Given the description of an element on the screen output the (x, y) to click on. 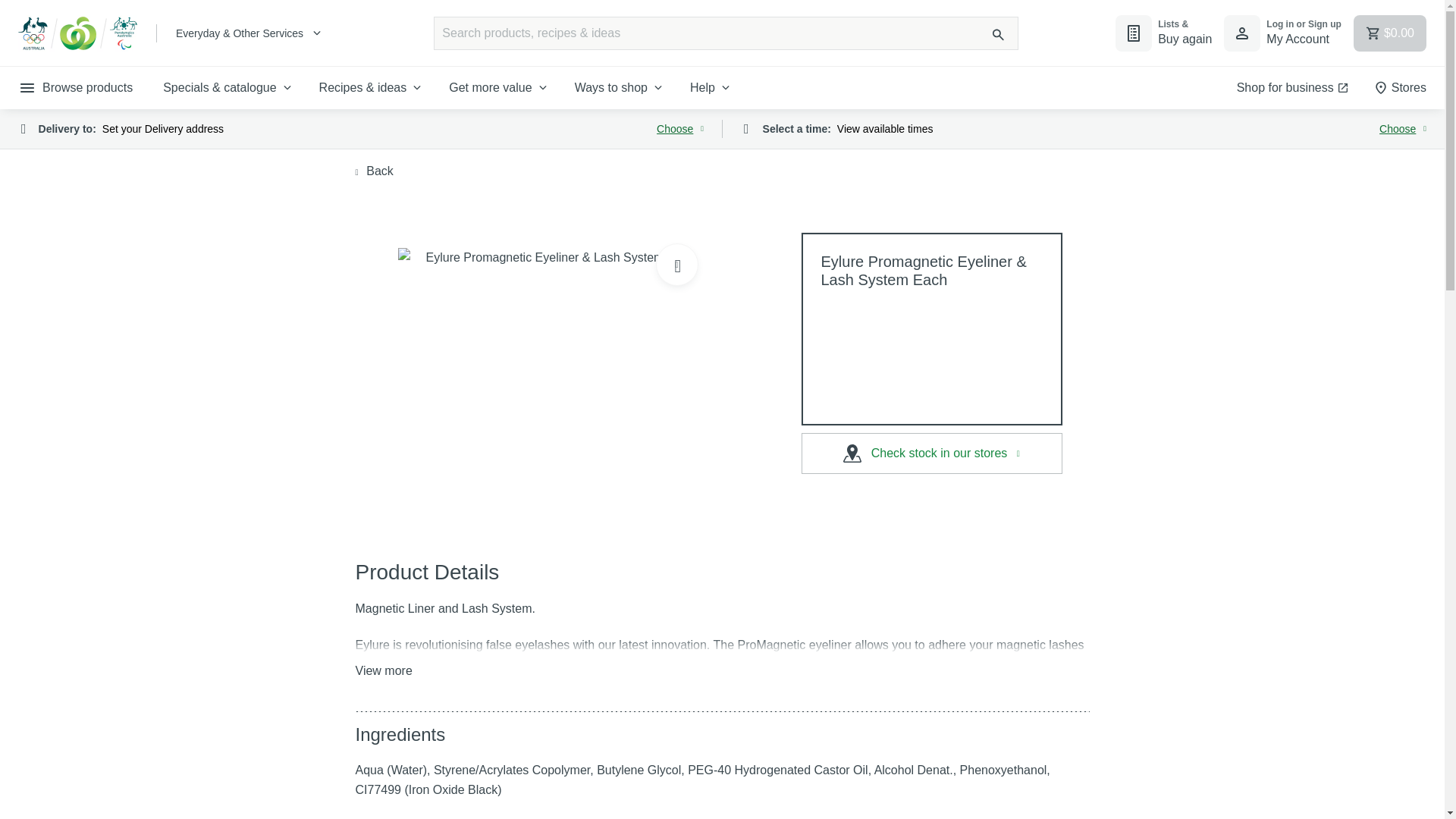
Back (374, 171)
Stores (1399, 87)
Get more value (499, 87)
Help (711, 87)
View more (361, 128)
Check stock in our stores (383, 671)
Ways to shop (930, 453)
Shop for business (1282, 33)
Search (620, 87)
Browse products (1292, 87)
